Given the description of an element on the screen output the (x, y) to click on. 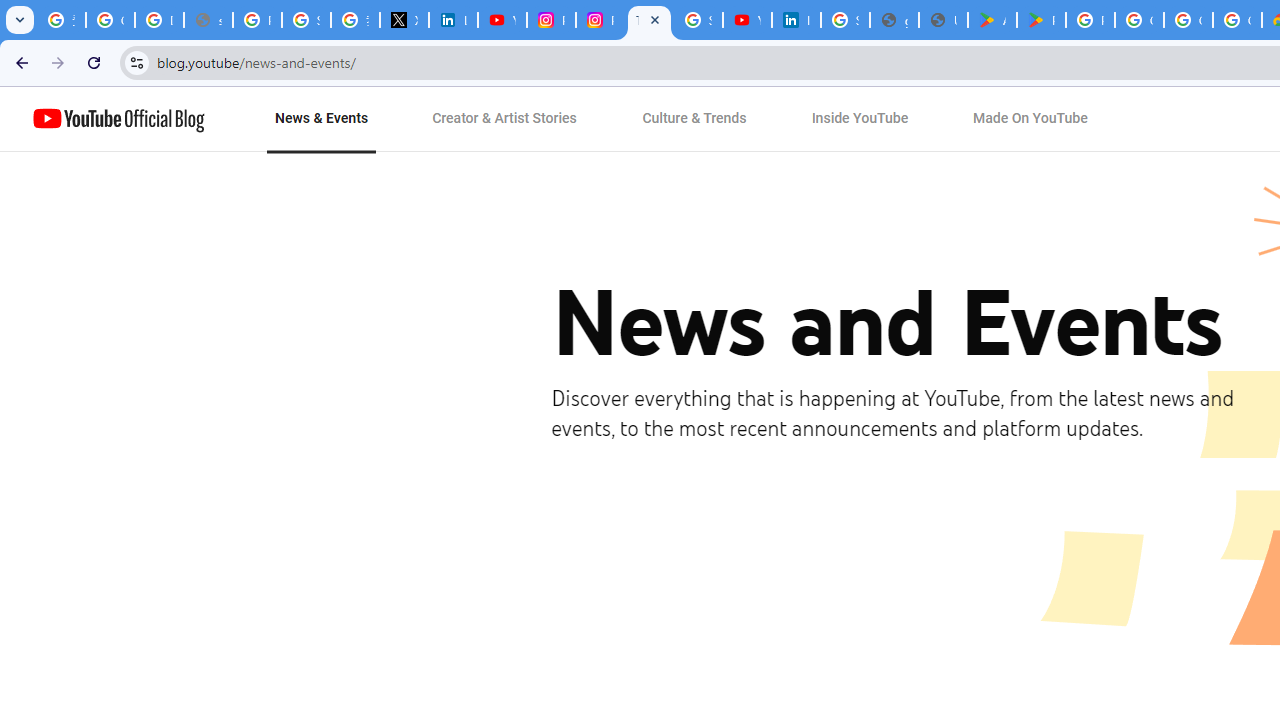
News & Events (321, 119)
X (404, 20)
YouTube Content Monetization Policies - How YouTube Works (502, 20)
LinkedIn Privacy Policy (452, 20)
